Given the description of an element on the screen output the (x, y) to click on. 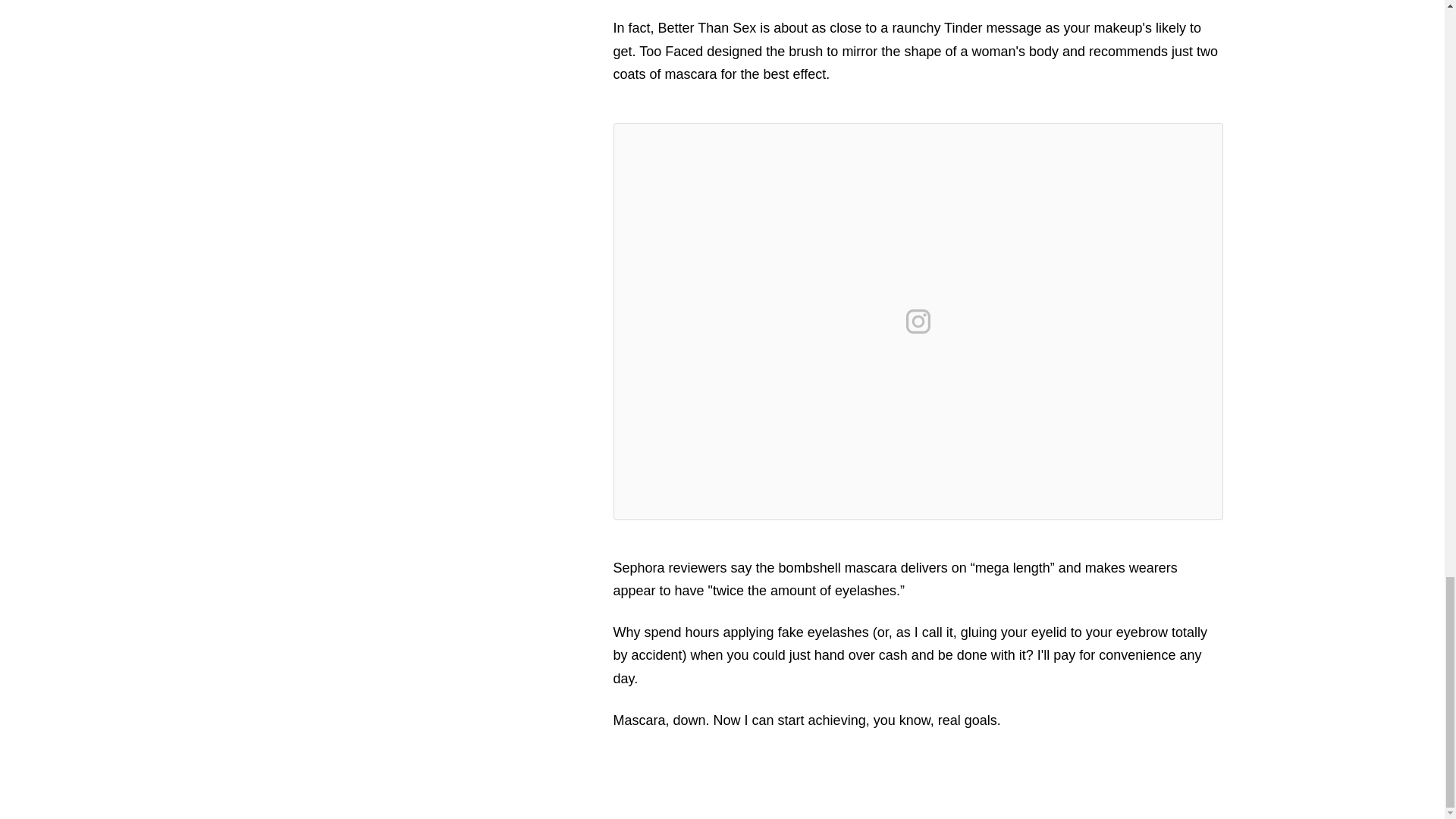
View on Instagram (917, 321)
